Given the description of an element on the screen output the (x, y) to click on. 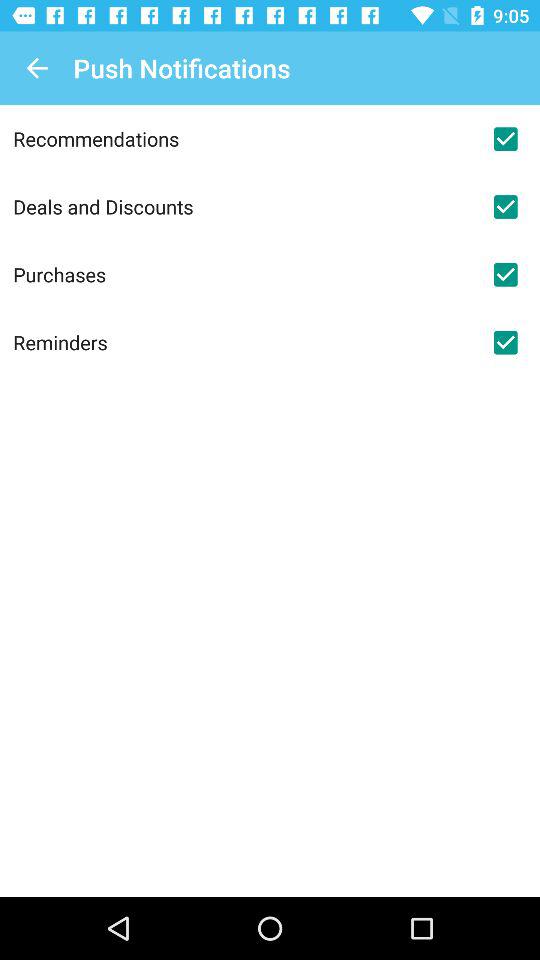
launch purchases (242, 274)
